Given the description of an element on the screen output the (x, y) to click on. 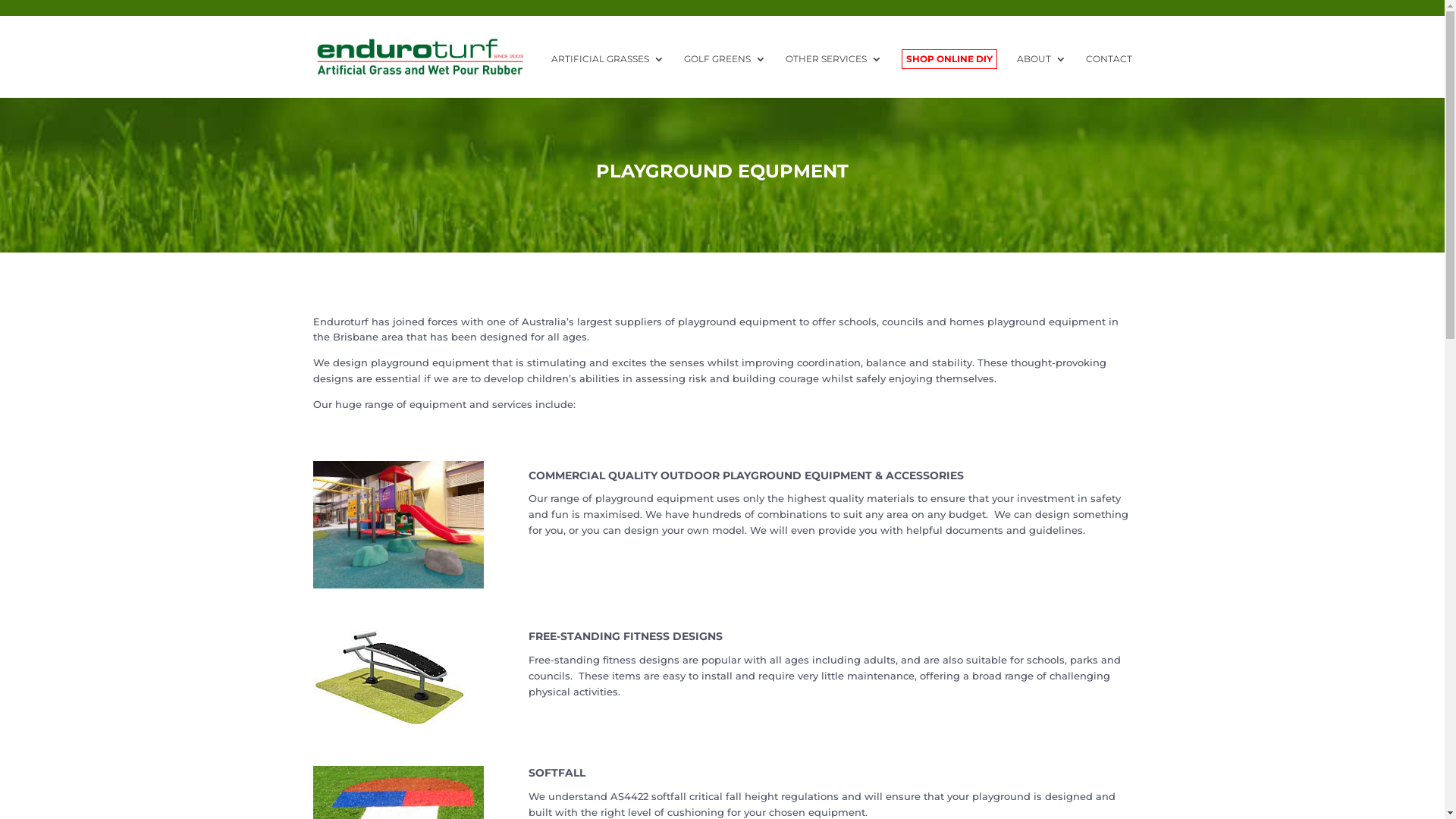
SHOP ONLINE DIY Element type: text (948, 59)
GOLF GREENS Element type: text (724, 75)
ABOUT Element type: text (1040, 75)
OTHER SERVICES Element type: text (833, 75)
CONTACT Element type: text (1108, 75)
ARTIFICIAL GRASSES Element type: text (606, 75)
Wetpour Rubber Installers Brisbane Element type: hover (397, 525)
